Given the description of an element on the screen output the (x, y) to click on. 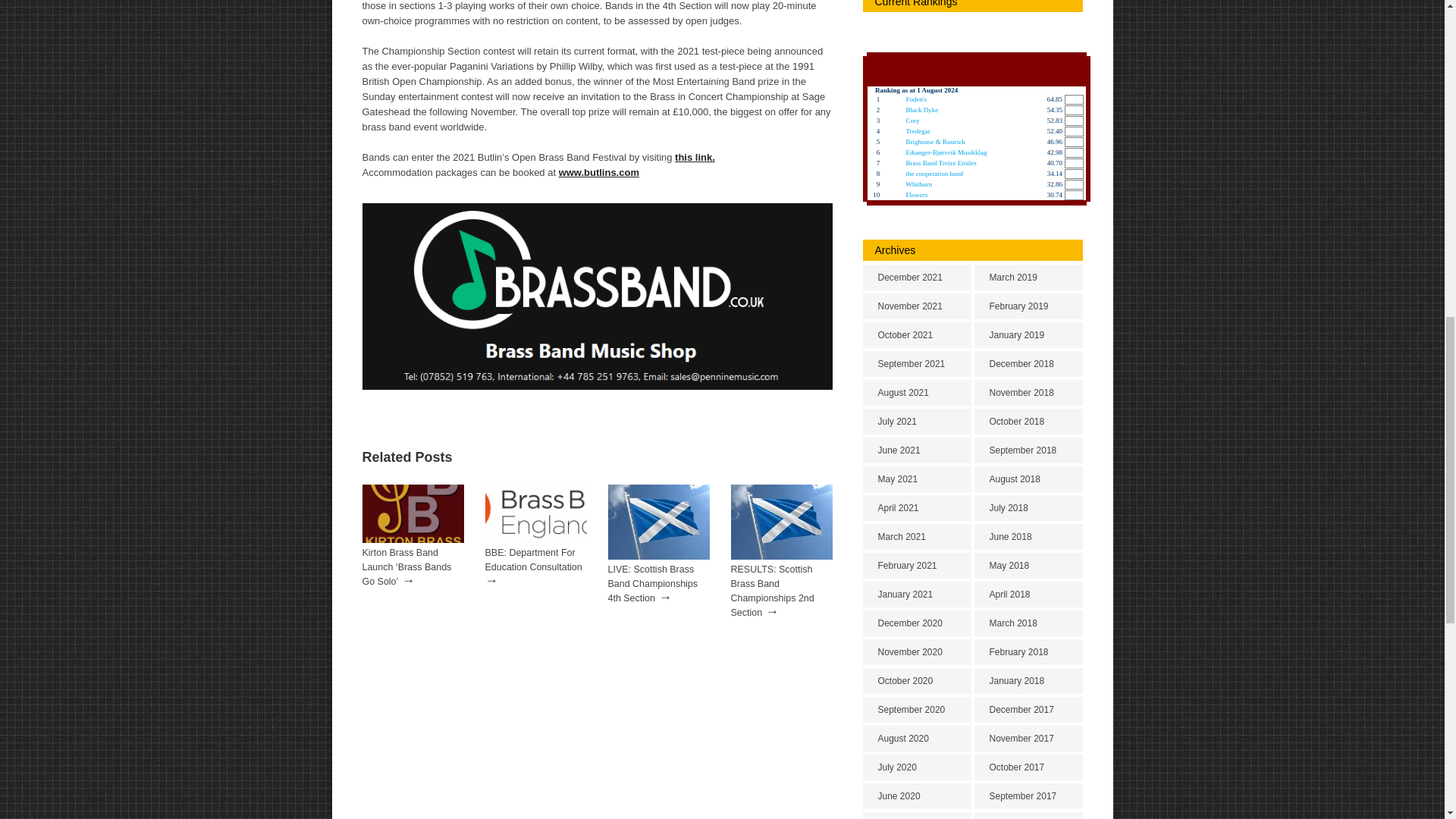
BBE: Department For Education Consultation (533, 559)
RESULTS: Scottish Brass Band Championships 2nd Section (781, 556)
LIVE: Scottish Brass Band Championships 4th Section (653, 583)
this link. (694, 156)
December 2021 (917, 277)
BBE: Department For Education Consultation (535, 539)
RESULTS: Scottish Brass Band Championships 2nd Section (771, 591)
LIVE: Scottish Brass Band Championships 4th Section (653, 583)
LIVE: Scottish Brass Band Championships 4th Section (659, 556)
RESULTS: Scottish Brass Band Championships 2nd Section (771, 591)
